Given the description of an element on the screen output the (x, y) to click on. 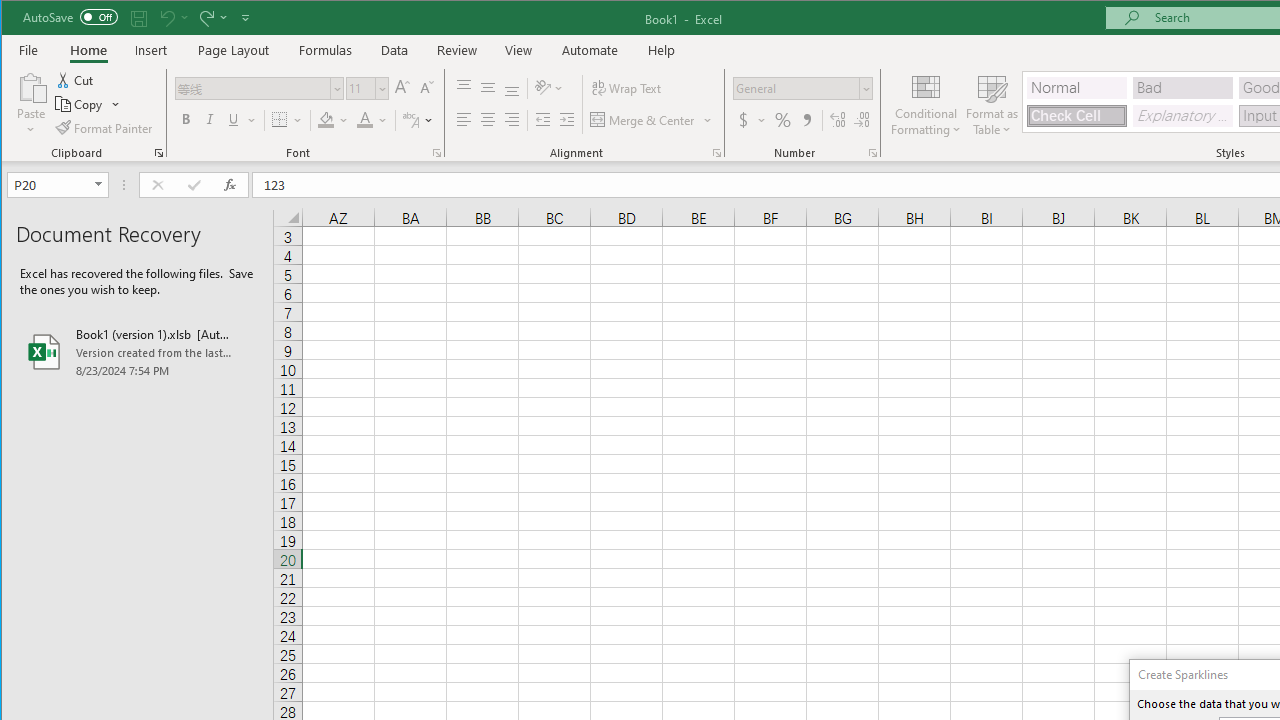
Copy (88, 103)
Fill Color RGB(255, 255, 0) (325, 119)
Conditional Formatting (926, 104)
Copy (80, 103)
Font (259, 88)
Bottom Align (511, 88)
Show Phonetic Field (410, 119)
Paste (31, 86)
Italic (209, 119)
Font Color RGB(255, 0, 0) (365, 119)
